Given the description of an element on the screen output the (x, y) to click on. 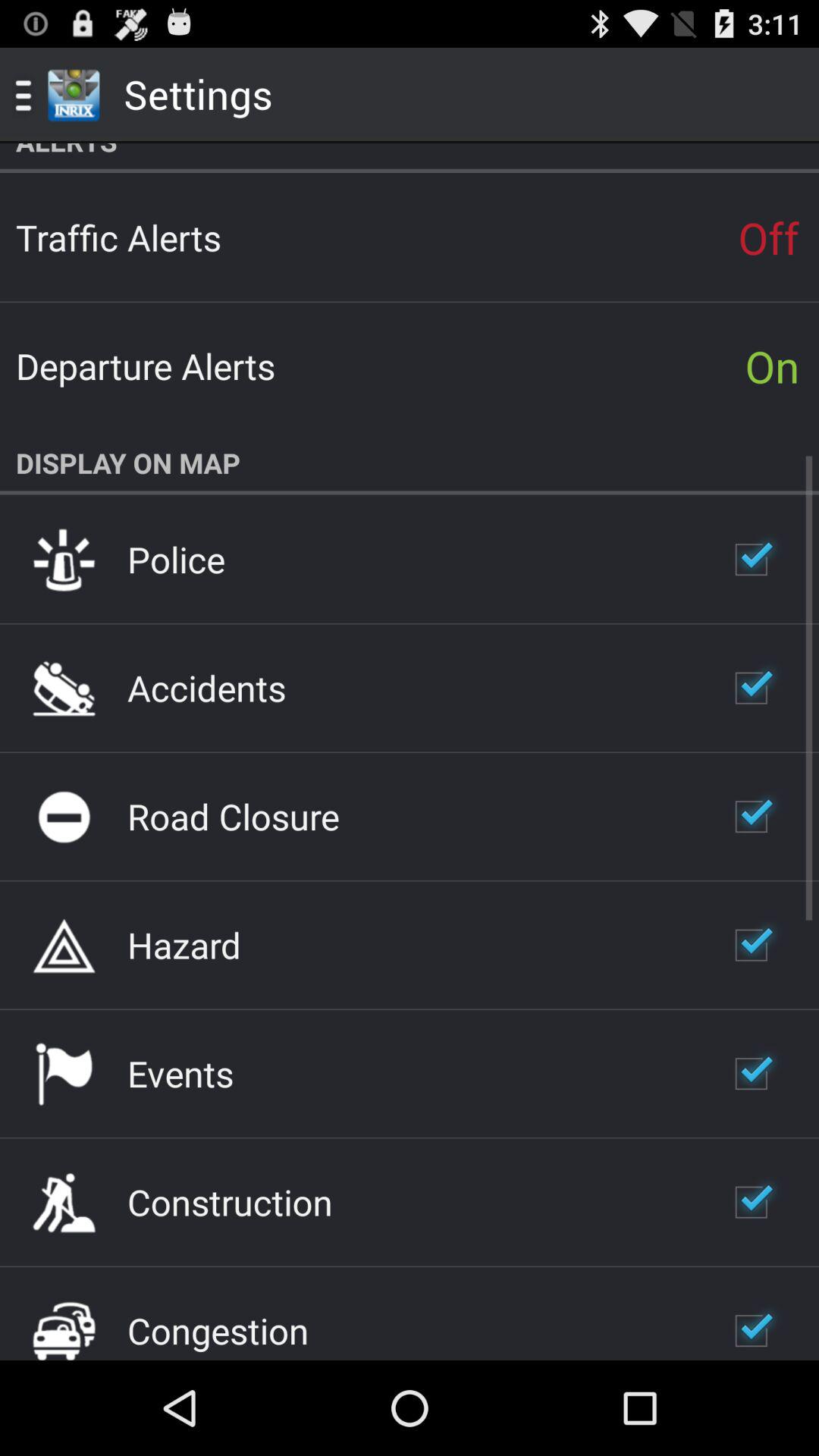
press the icon below the events (229, 1201)
